Given the description of an element on the screen output the (x, y) to click on. 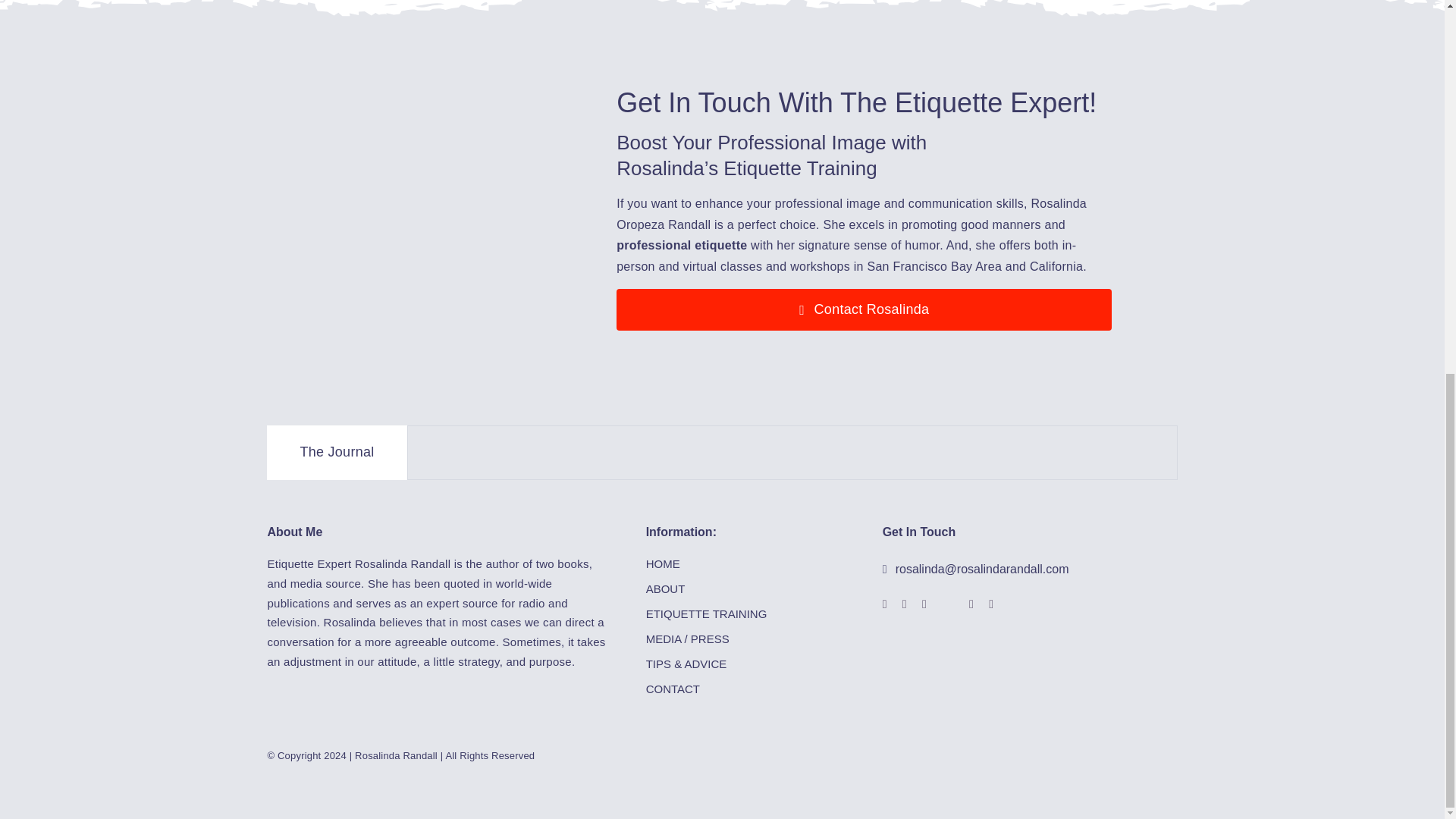
X (947, 604)
author of two books (537, 563)
media source (325, 583)
Contact Rosalinda (863, 309)
HOME (745, 563)
